Given the description of an element on the screen output the (x, y) to click on. 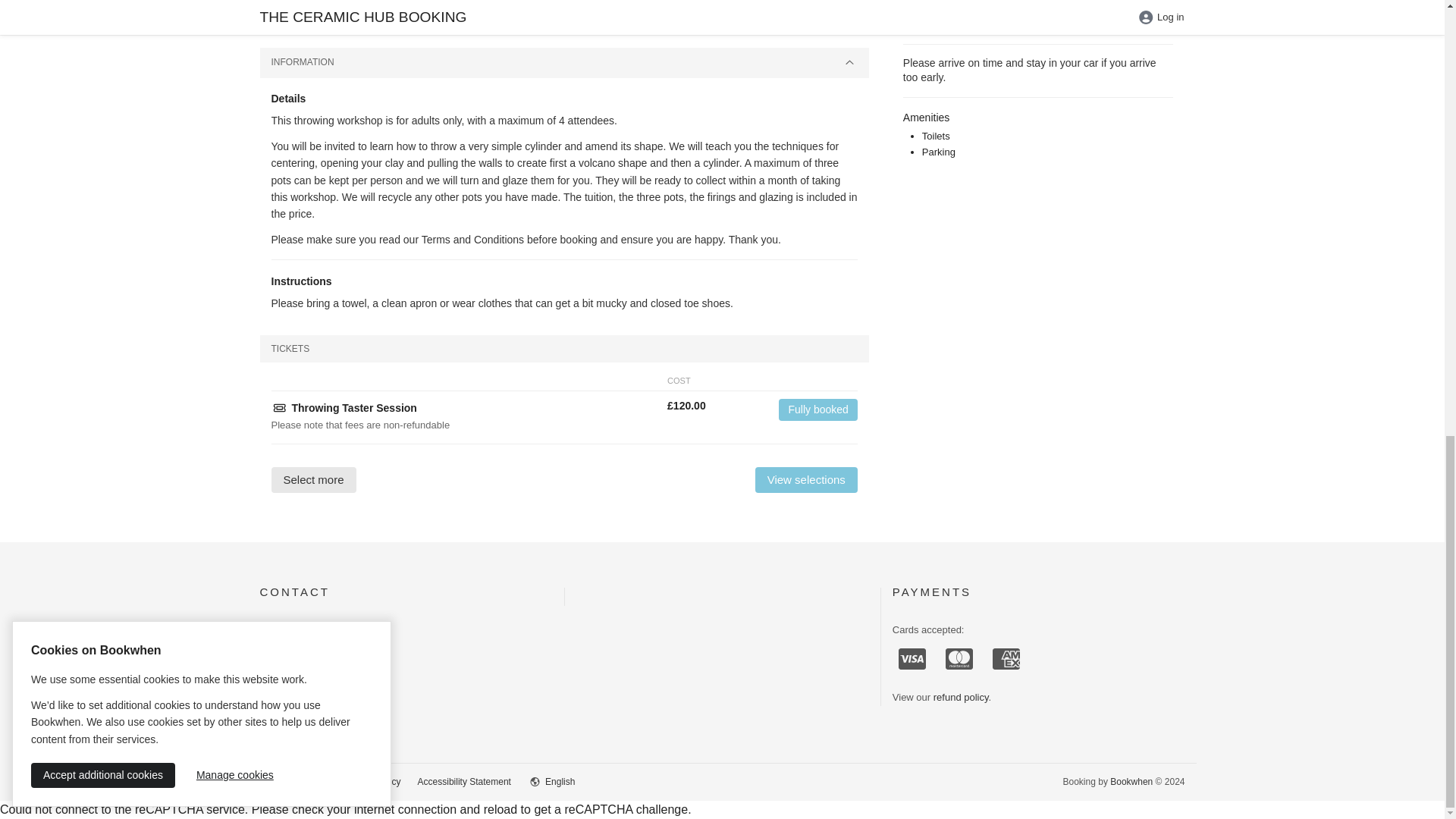
Fully booked (817, 409)
Terms of Service (292, 781)
Submit details (522, 1)
Submit details (522, 1)
Mastercard (958, 658)
English (559, 781)
View selections (806, 479)
Accessibility Statement (464, 781)
Bookwhen (1131, 781)
Privacy Policy (372, 781)
INFORMATION (563, 61)
Visa (911, 658)
Select more (313, 479)
Amex (1006, 658)
refund policy (960, 696)
